Given the description of an element on the screen output the (x, y) to click on. 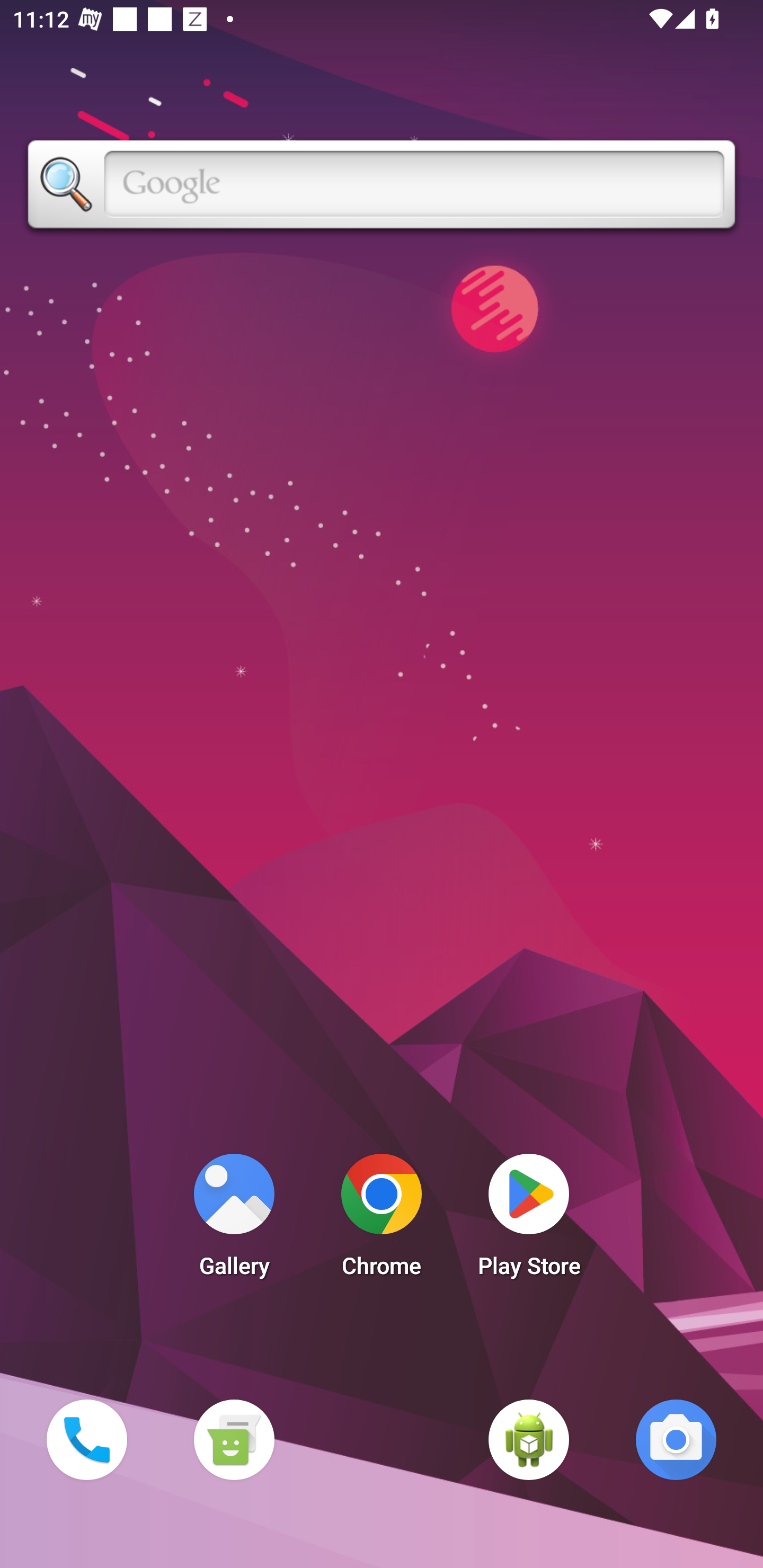
Gallery (233, 1220)
Chrome (381, 1220)
Play Store (528, 1220)
Phone (86, 1439)
Messaging (233, 1439)
WebView Browser Tester (528, 1439)
Camera (676, 1439)
